Given the description of an element on the screen output the (x, y) to click on. 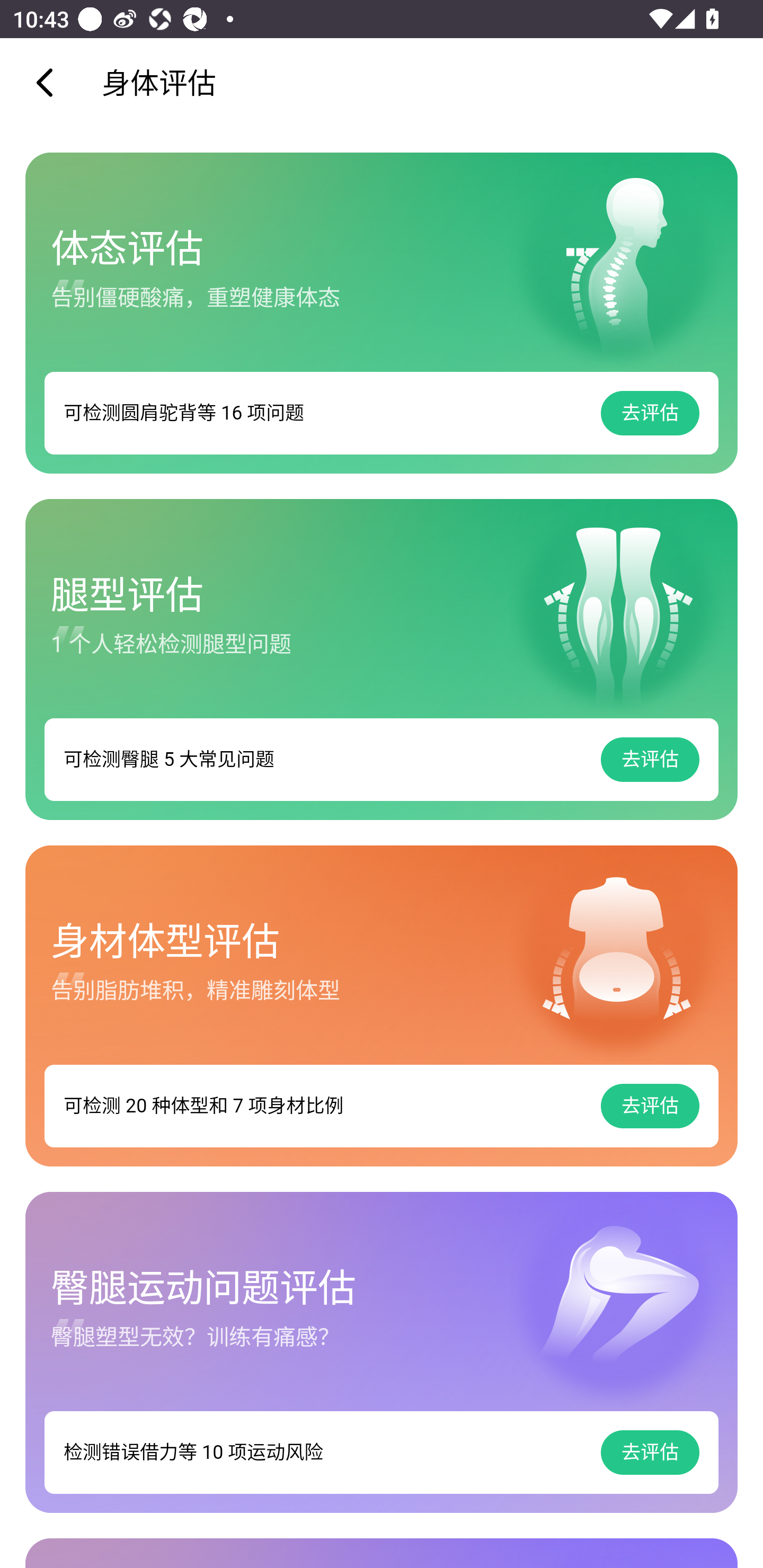
Left Button In Title Bar (50, 82)
1 (381, 312)
1 (381, 659)
1 (381, 1005)
1 (381, 1352)
